Given the description of an element on the screen output the (x, y) to click on. 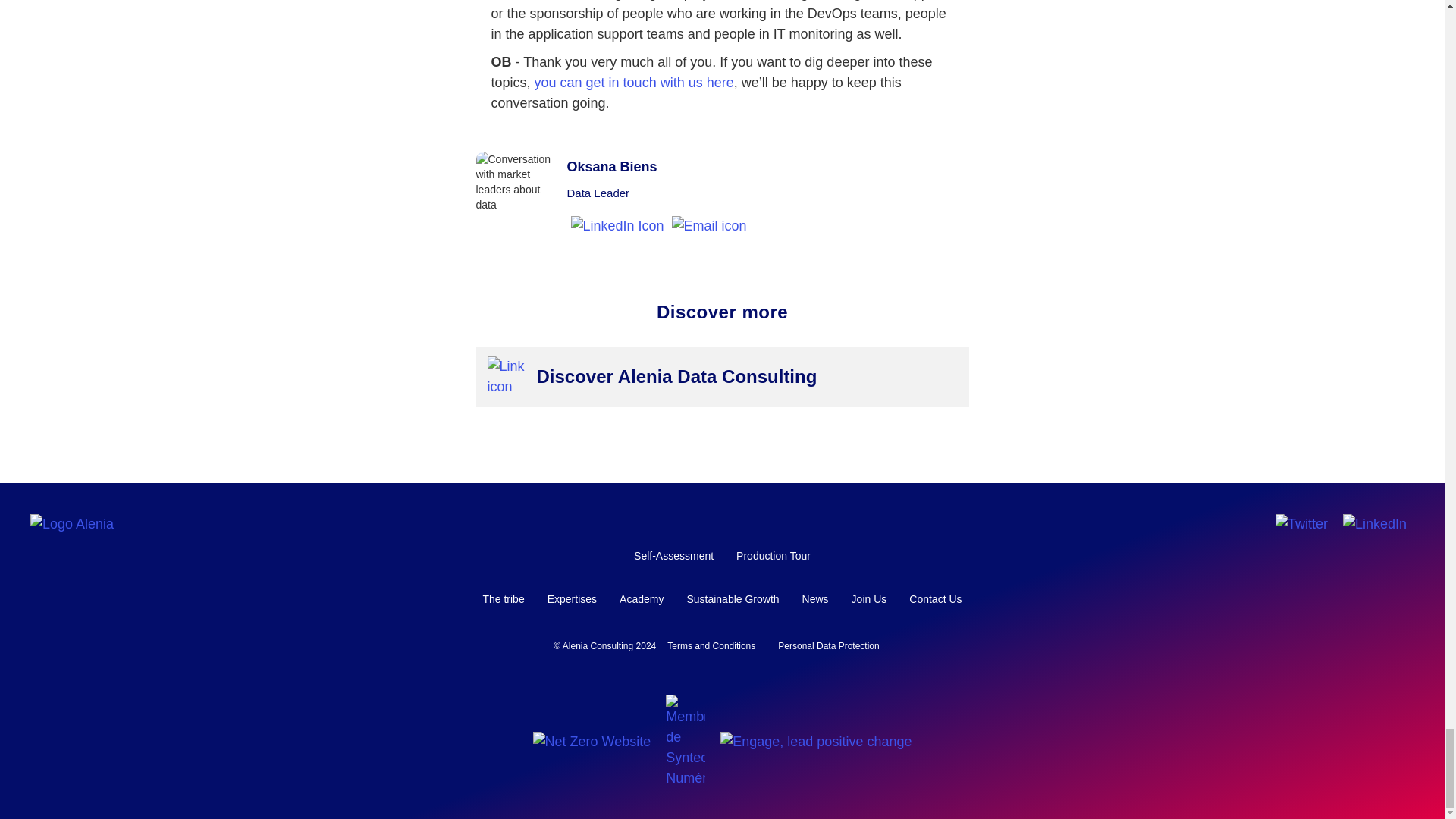
The tribe (502, 599)
News (815, 599)
Sustainable Growth (732, 599)
Personal Data Protection (828, 646)
Expertises (571, 599)
Discover Alenia Data Consulting (684, 377)
Join Us (869, 599)
Contact Us (935, 599)
Academy (641, 599)
Self-Assessment (674, 556)
Production Tour (773, 556)
you can get in touch with us here (633, 82)
Terms and Conditions (711, 646)
